Given the description of an element on the screen output the (x, y) to click on. 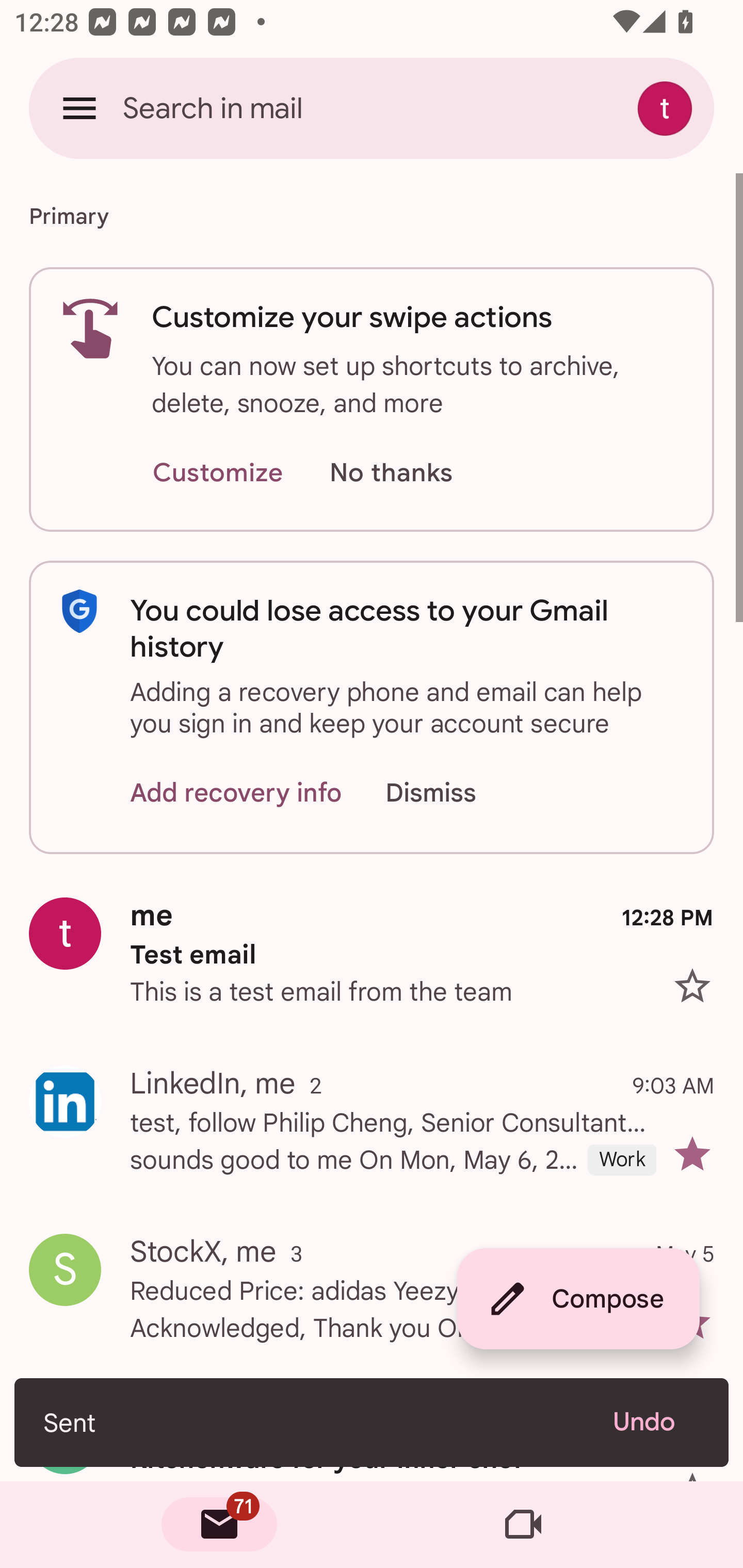
Open navigation drawer (79, 108)
Customize (217, 473)
No thanks (390, 473)
Add recovery info (235, 792)
Dismiss (449, 792)
Compose (577, 1299)
Undo (655, 1422)
Meet (523, 1524)
